Given the description of an element on the screen output the (x, y) to click on. 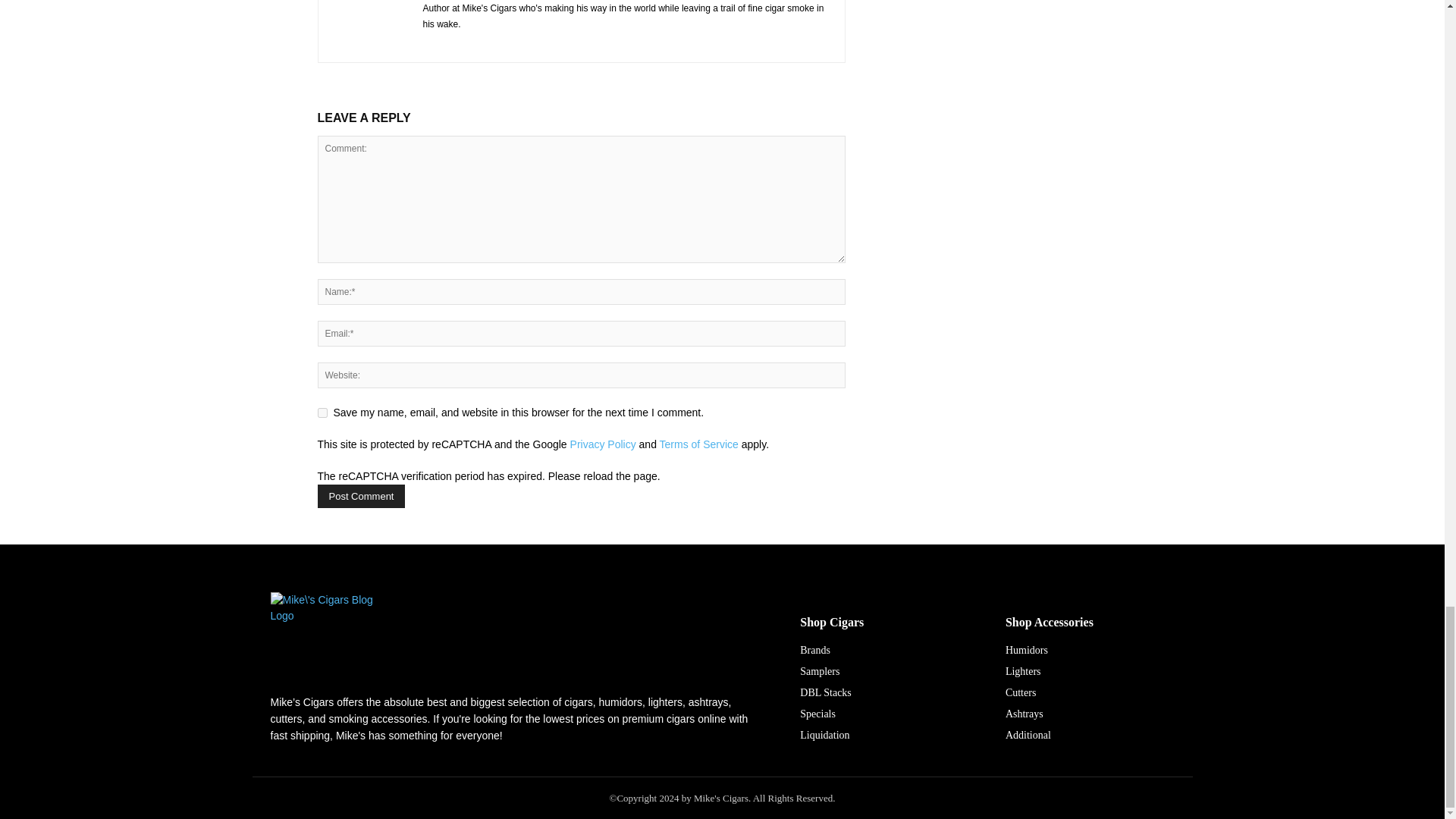
Post Comment (360, 495)
yes (321, 412)
